Given the description of an element on the screen output the (x, y) to click on. 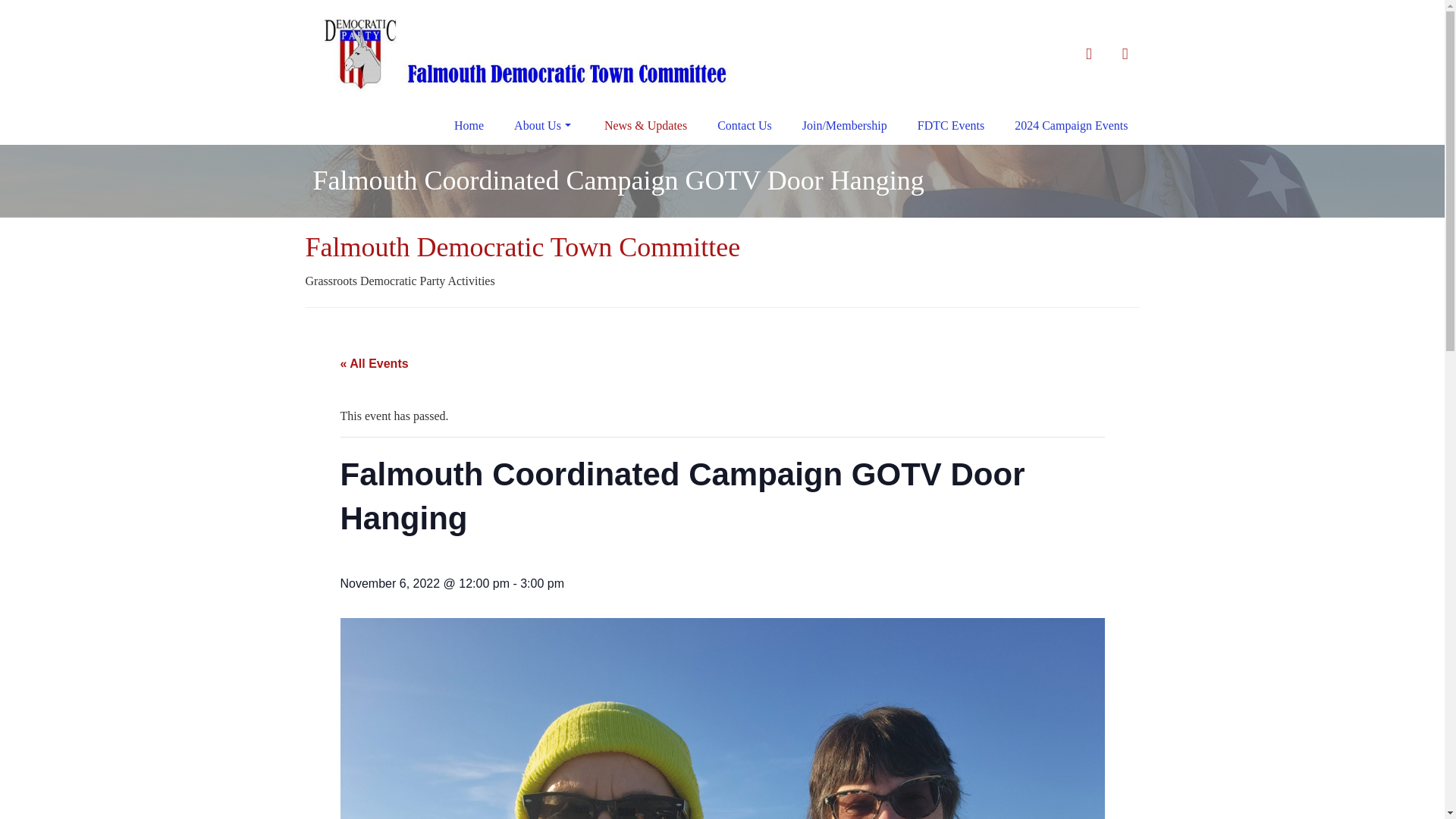
facebook (1088, 53)
About Us (544, 125)
FDTC Events (950, 125)
Contact Us (744, 125)
instagram (1124, 53)
Falmouth Coordinated Campaign GOTV Door Hanging (618, 180)
Falmouth Democratic Town Committee (521, 246)
2024 Campaign Events (1070, 125)
Home (469, 125)
